Given the description of an element on the screen output the (x, y) to click on. 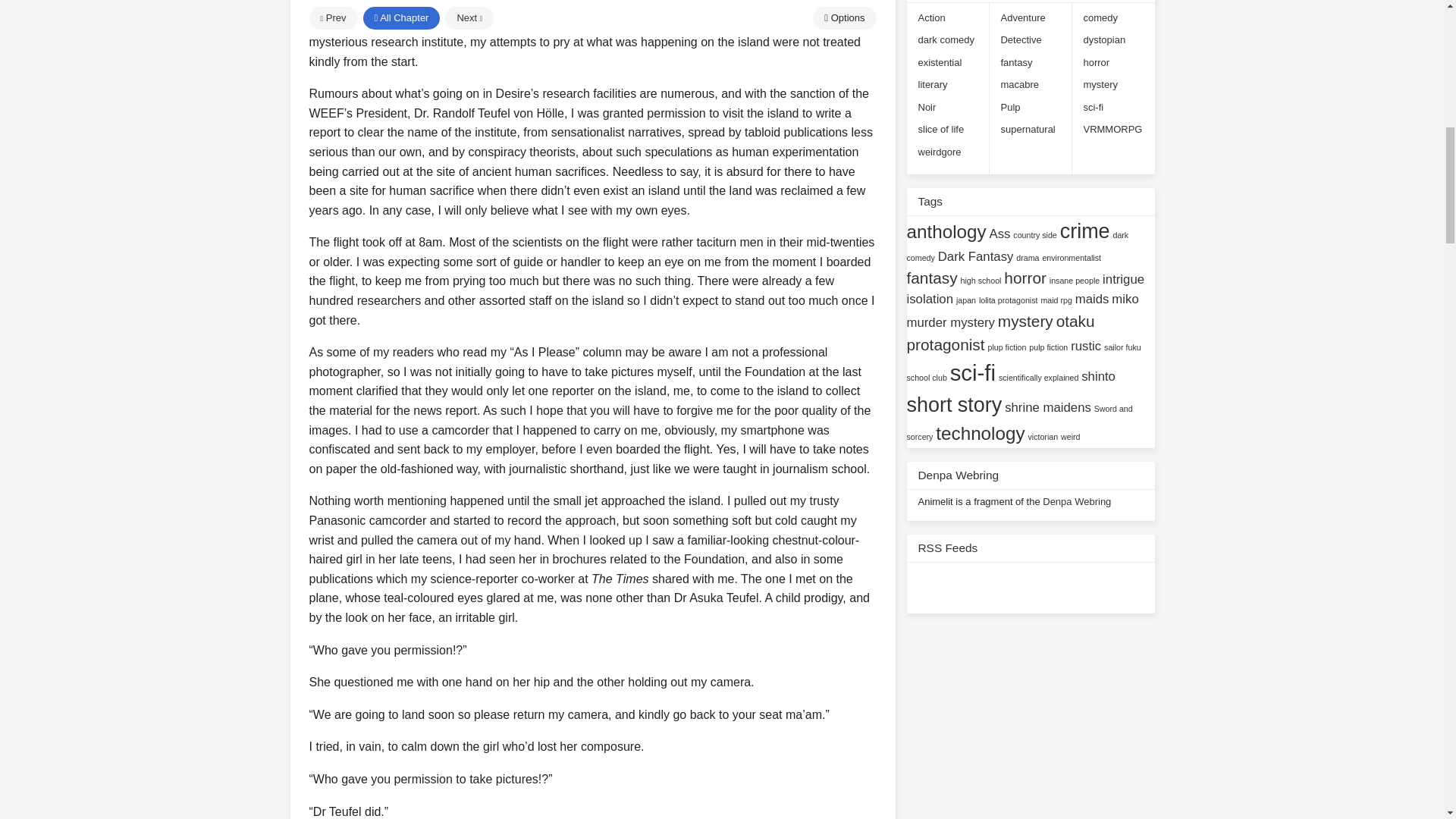
View all series in Action (931, 17)
